Given the description of an element on the screen output the (x, y) to click on. 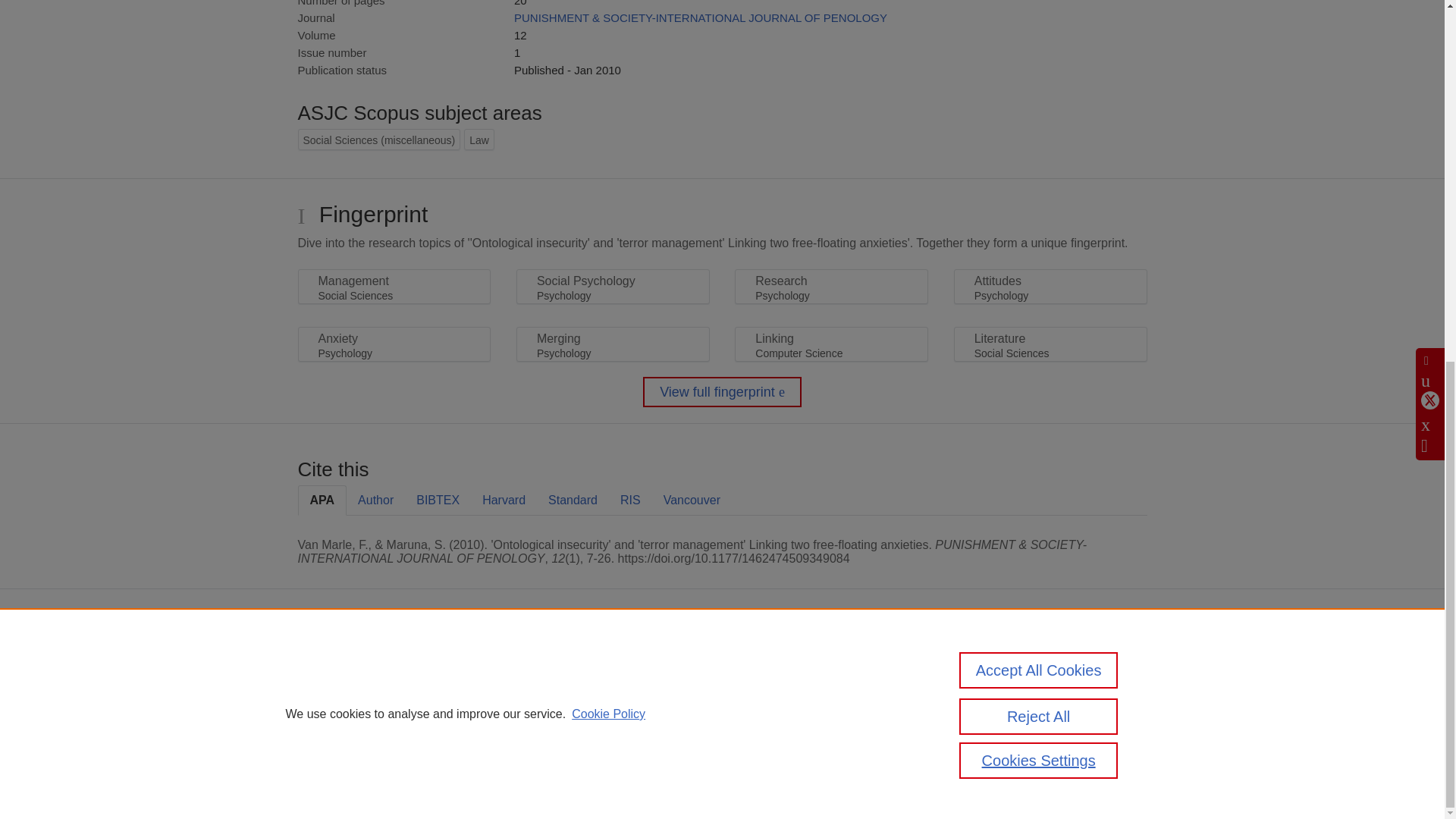
View full fingerprint (722, 391)
